Given the description of an element on the screen output the (x, y) to click on. 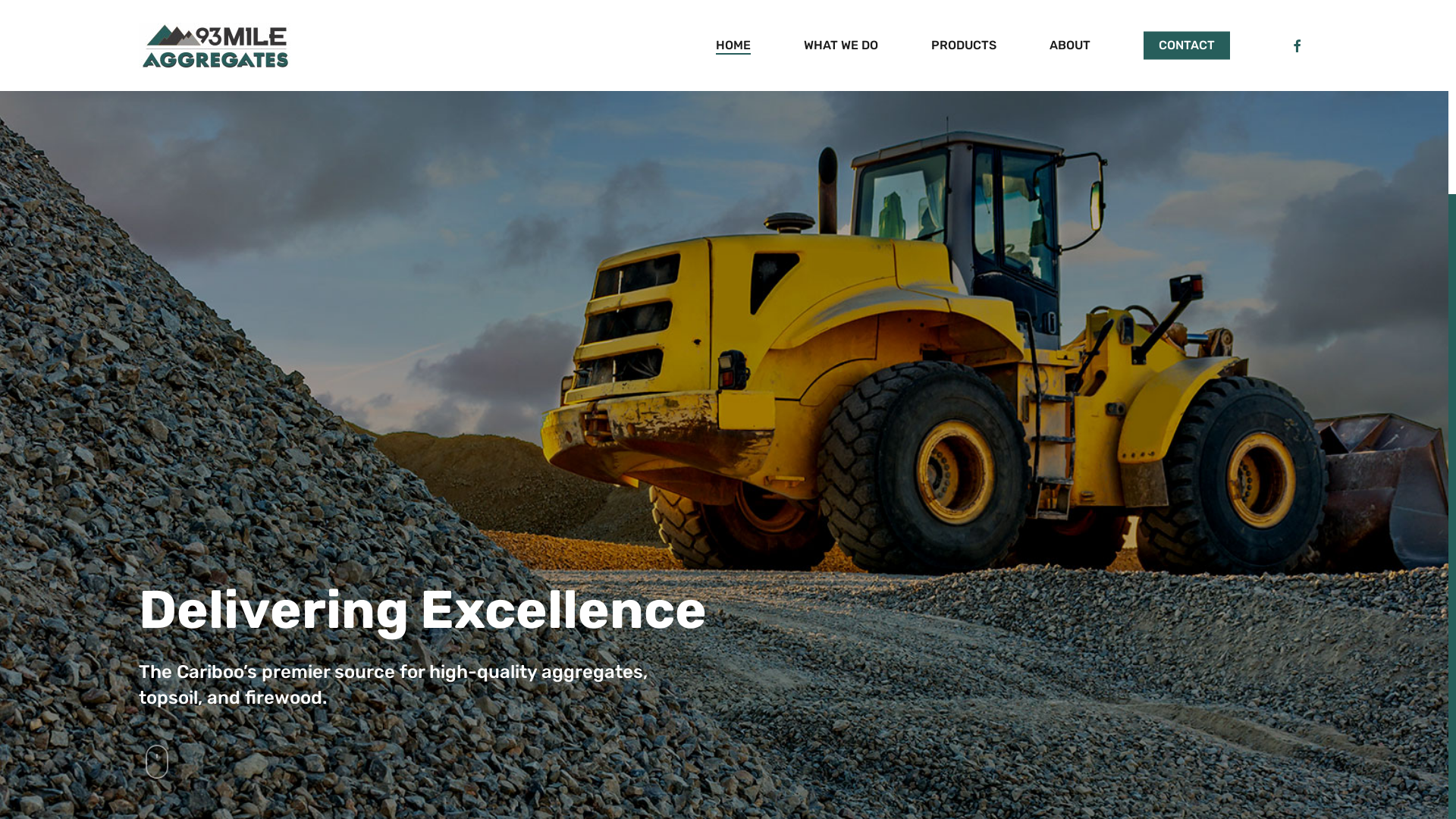
HOME Element type: text (732, 45)
ABOUT Element type: text (1069, 45)
Navigate to the next section Element type: text (156, 767)
FACEBOOK Element type: text (1296, 45)
WHAT WE DO Element type: text (840, 45)
PRODUCTS Element type: text (963, 45)
CONTACT Element type: text (1186, 45)
